Given the description of an element on the screen output the (x, y) to click on. 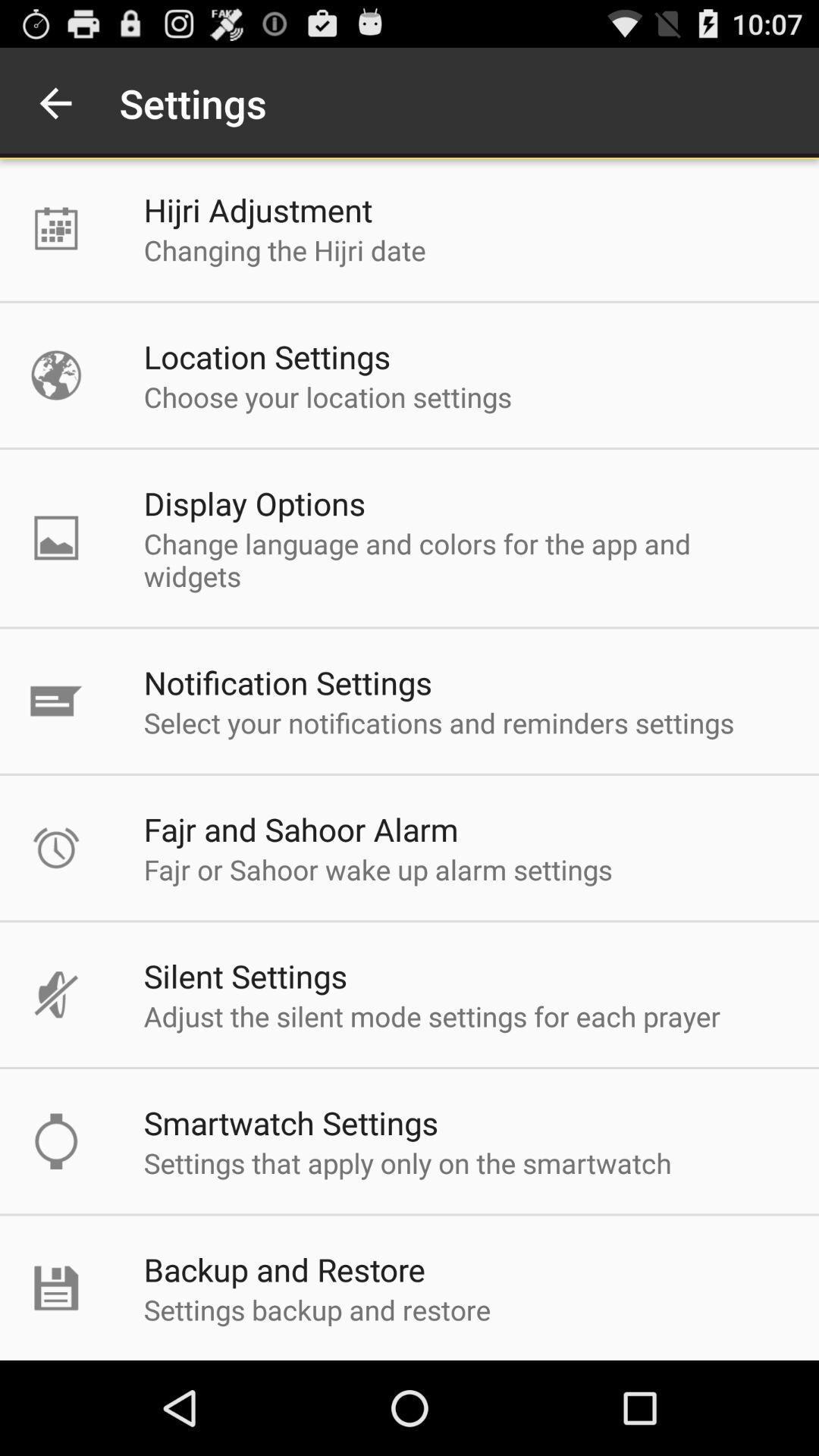
press the change language and item (465, 559)
